Given the description of an element on the screen output the (x, y) to click on. 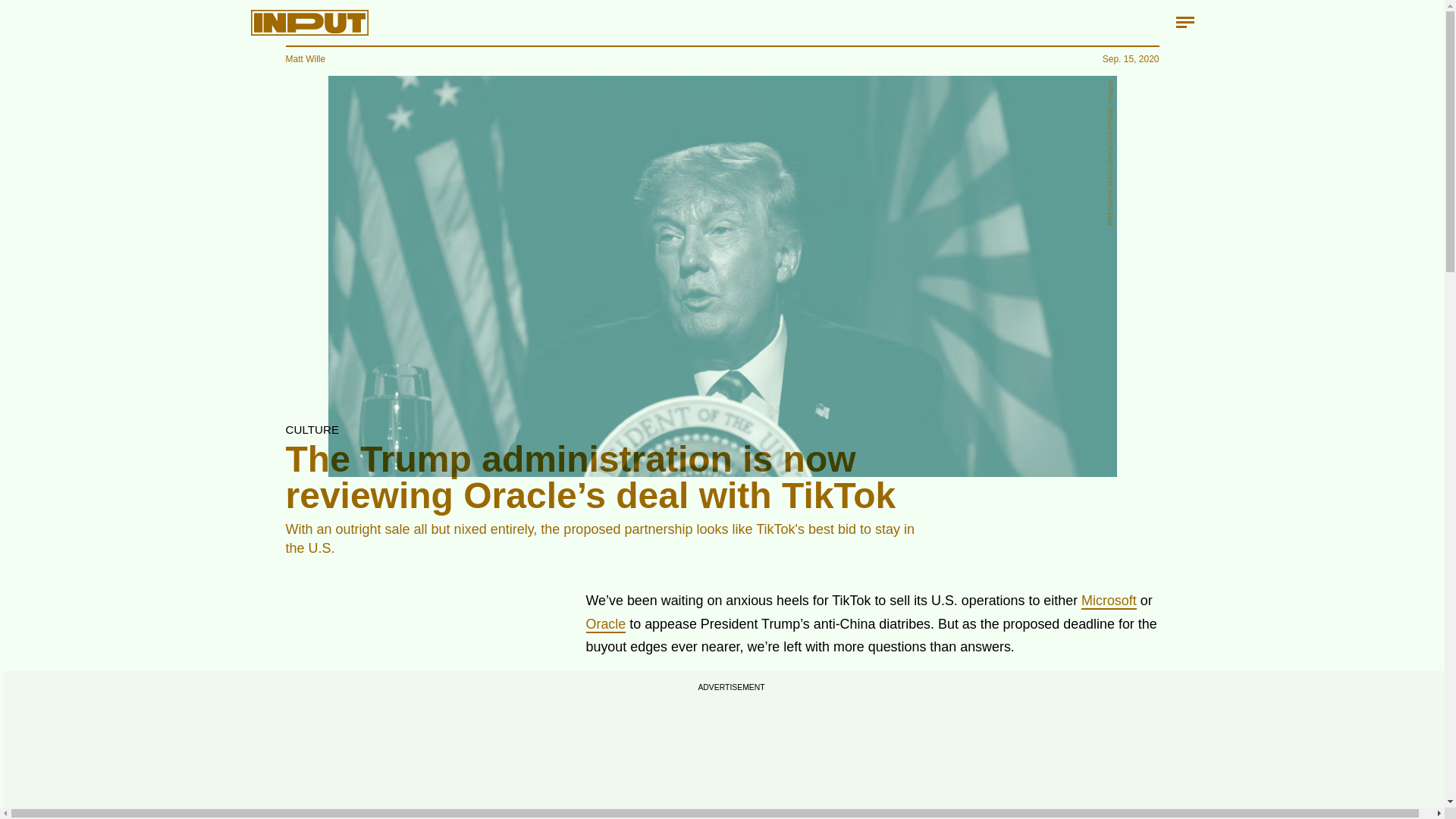
Oracle (605, 624)
Matt Wille (304, 59)
Microsoft (1109, 600)
Input (309, 22)
